Given the description of an element on the screen output the (x, y) to click on. 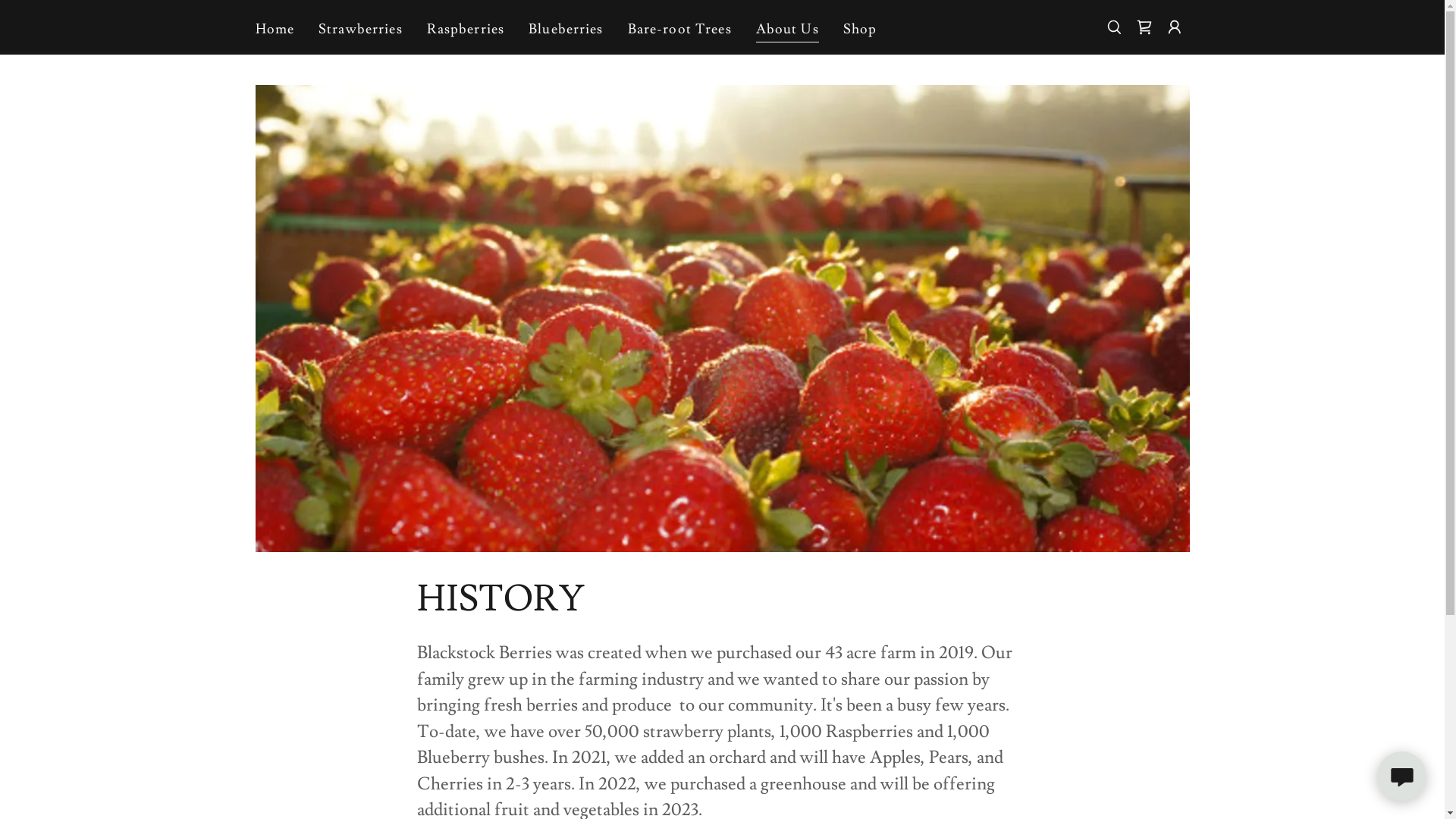
About Us Element type: text (787, 30)
Home Element type: text (274, 28)
Blueberries Element type: text (565, 28)
Raspberries Element type: text (465, 28)
Bare-root Trees Element type: text (679, 28)
Shop Element type: text (859, 28)
Strawberries Element type: text (360, 28)
